Given the description of an element on the screen output the (x, y) to click on. 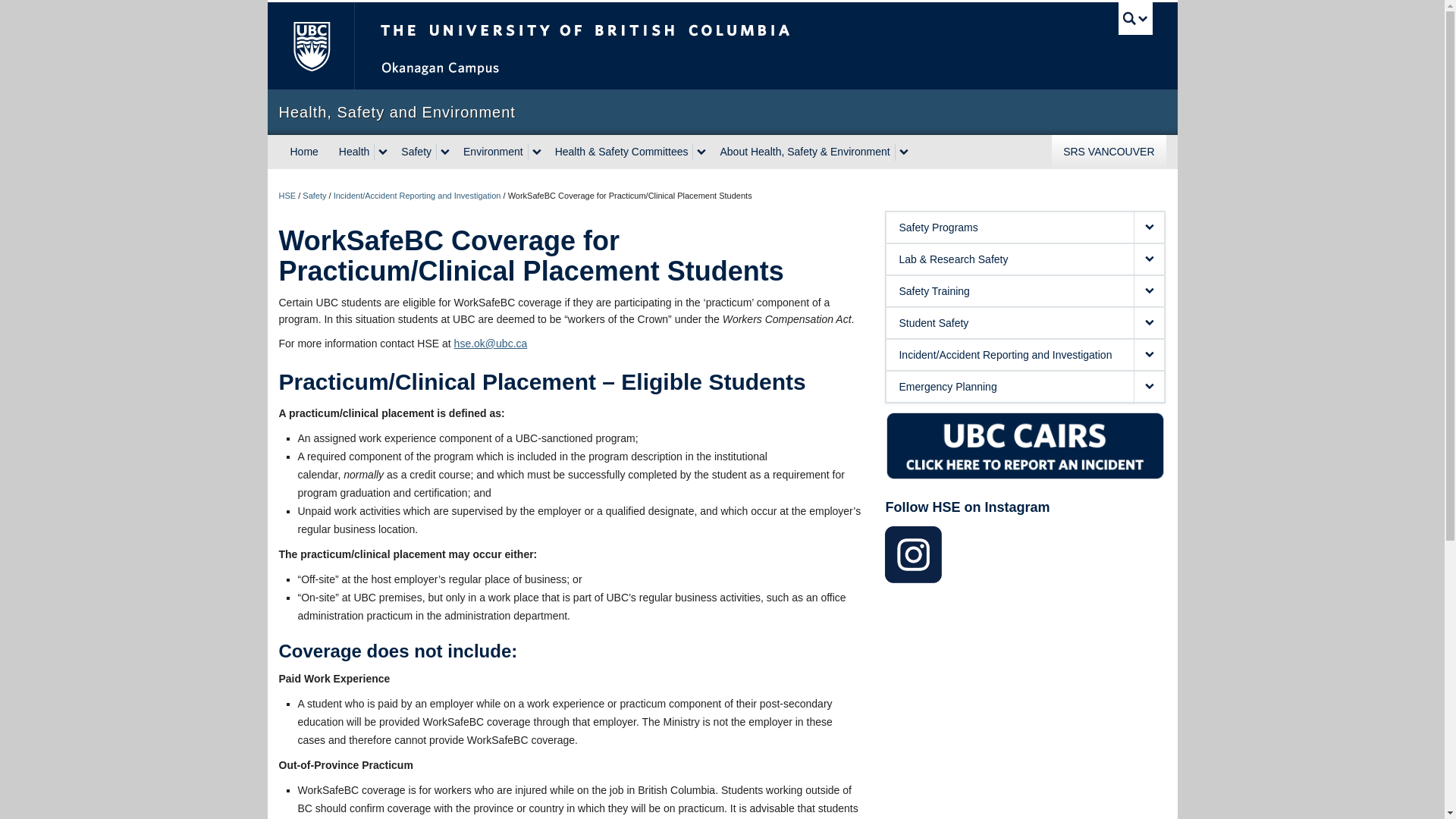
Safety (413, 151)
The University of British Columbia (635, 45)
Home (304, 151)
UBC Search (1135, 18)
Health, Safety and Environment (288, 194)
Safety (314, 194)
Health, Safety and Environment (722, 112)
Health (352, 151)
Health, Safety and Environment (722, 112)
The University of British Columbia (309, 45)
